Given the description of an element on the screen output the (x, y) to click on. 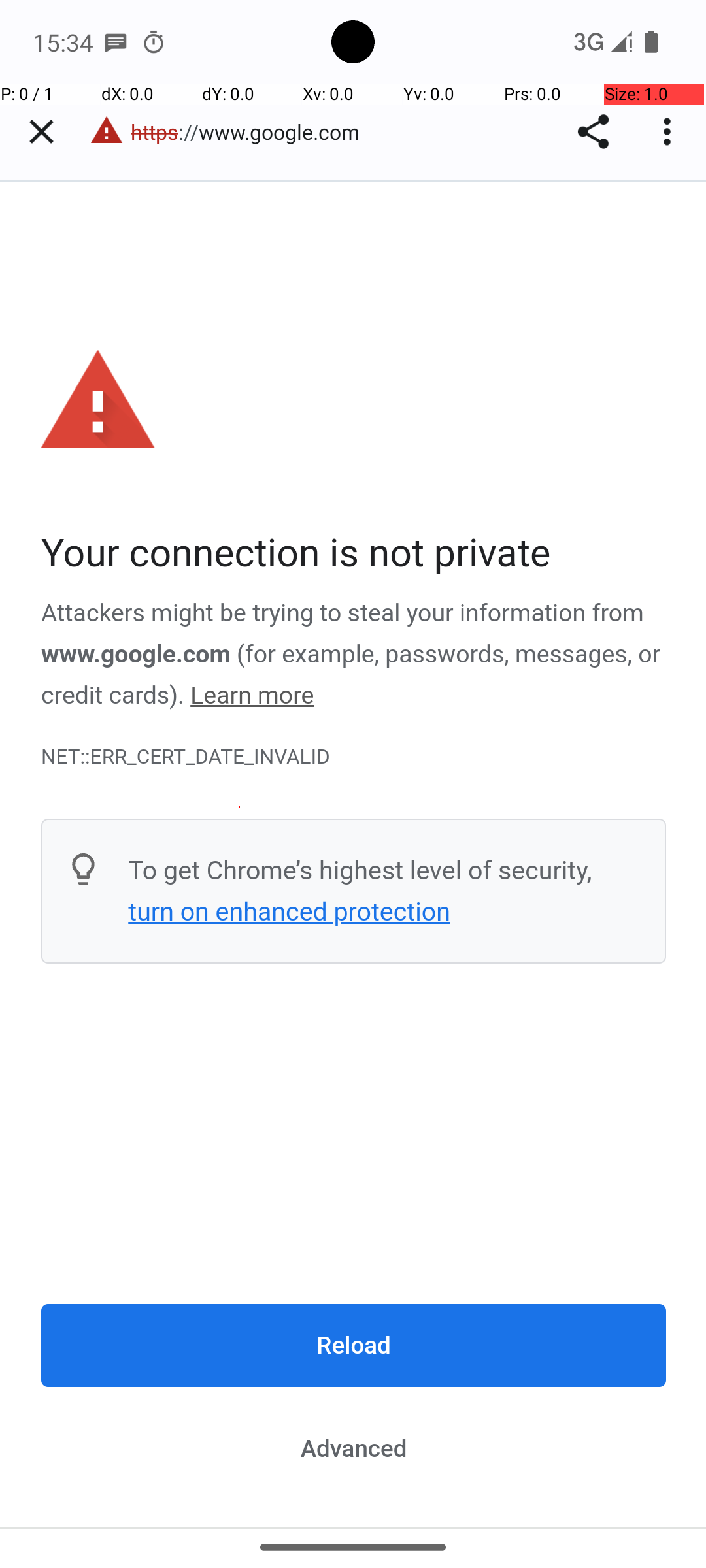
https://www.google.com Element type: android.widget.TextView (251, 131)
Reload Element type: android.widget.Button (354, 1344)
www.google.com Element type: android.widget.TextView (136, 653)
